Given the description of an element on the screen output the (x, y) to click on. 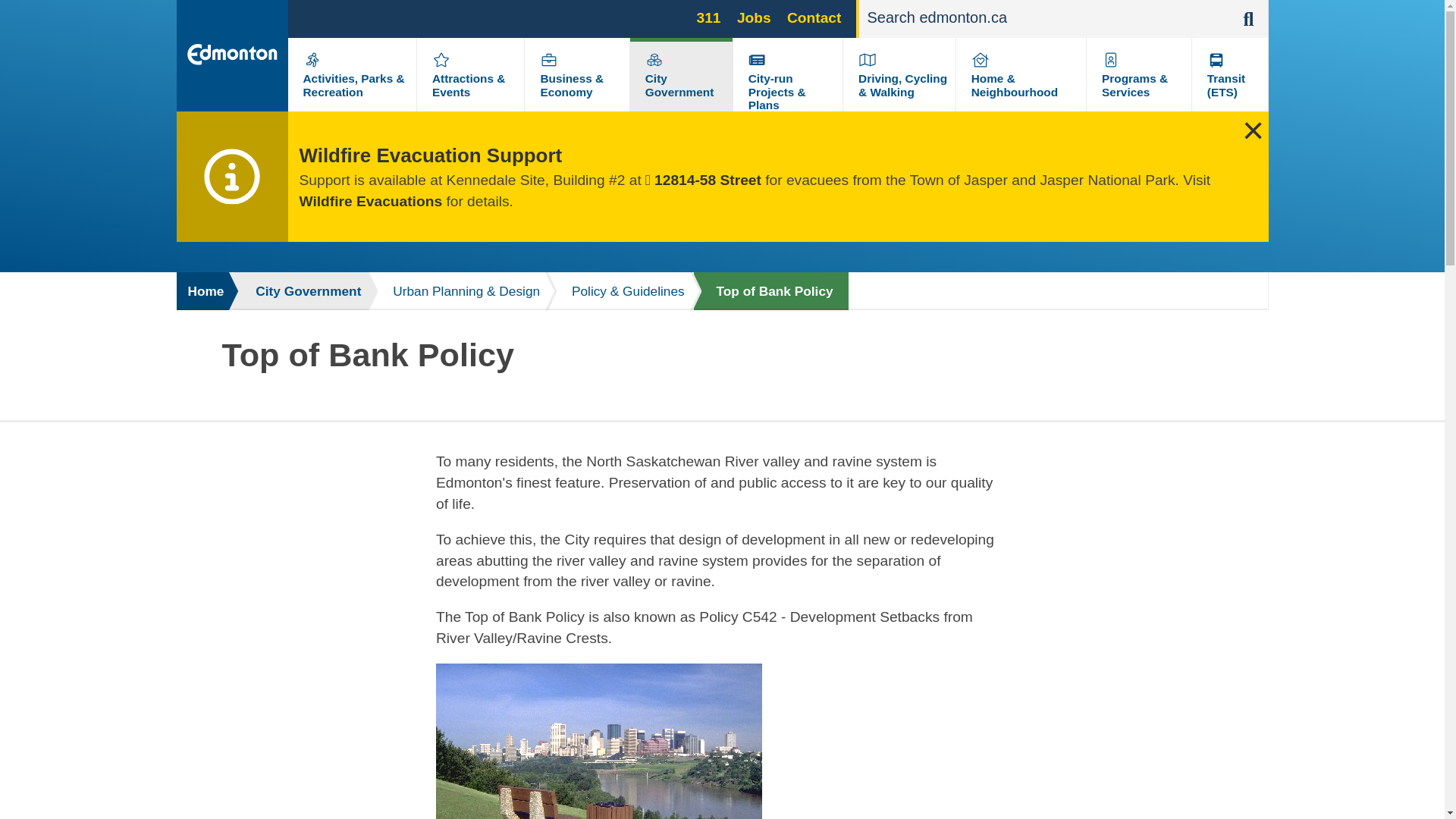
Top of Bank Policy (770, 290)
311 (708, 17)
City Government (300, 290)
Contact (814, 17)
City Government (679, 85)
Jobs (753, 17)
12814-58 Street (703, 179)
Home (203, 290)
Wildfire Evacuations (370, 201)
